Given the description of an element on the screen output the (x, y) to click on. 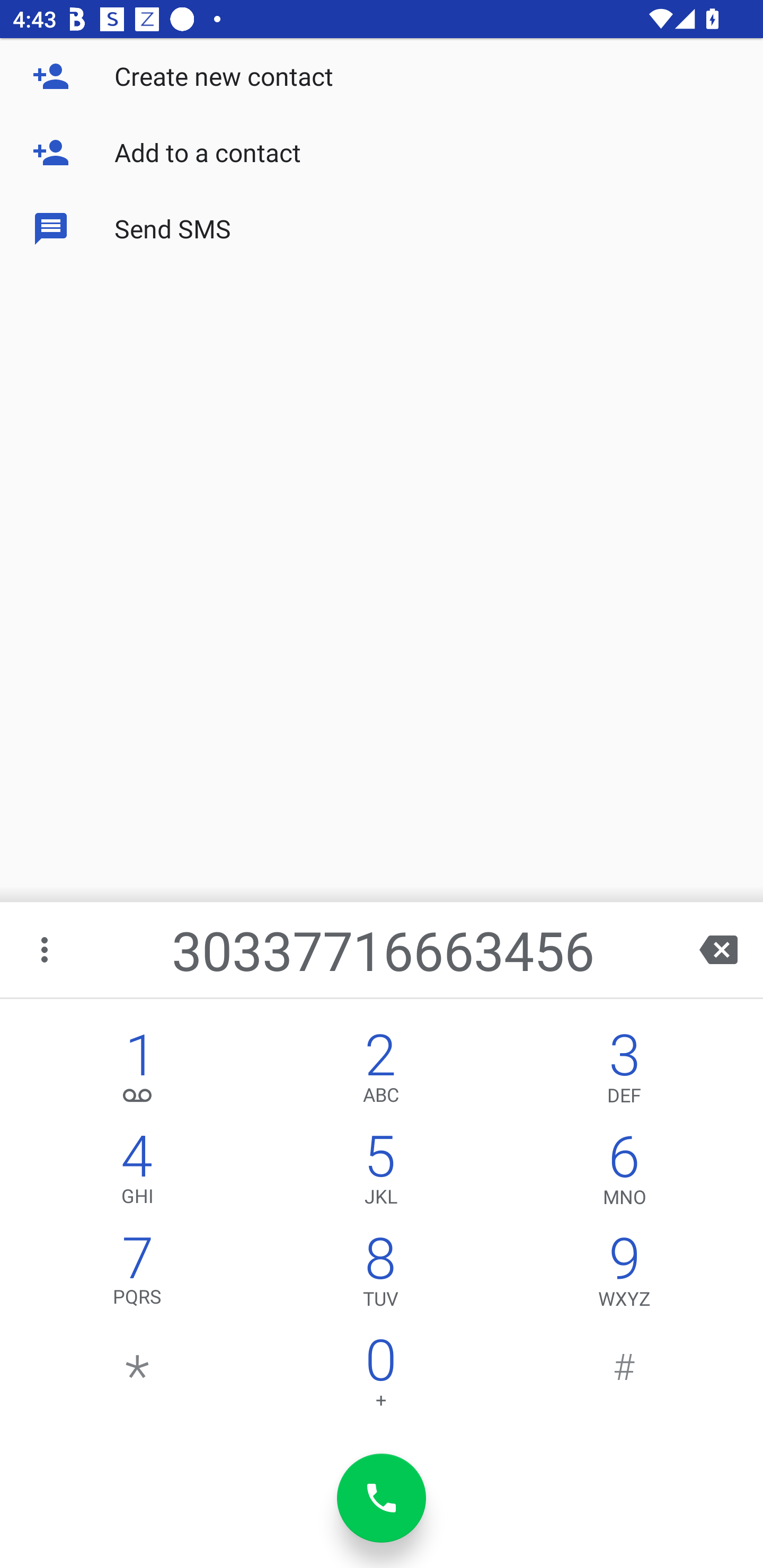
Create new contact (381, 75)
Add to a contact (381, 152)
Send SMS (381, 228)
30337716663456 (382, 949)
backspace (718, 949)
More options (45, 949)
1, 1 (137, 1071)
2,ABC 2 ABC (380, 1071)
3,DEF 3 DEF (624, 1071)
4,GHI 4 GHI (137, 1173)
5,JKL 5 JKL (380, 1173)
6,MNO 6 MNO (624, 1173)
7,PQRS 7 PQRS (137, 1275)
8,TUV 8 TUV (380, 1275)
9,WXYZ 9 WXYZ (624, 1275)
* (137, 1377)
0 0 + (380, 1377)
# (624, 1377)
dial (381, 1497)
